Given the description of an element on the screen output the (x, y) to click on. 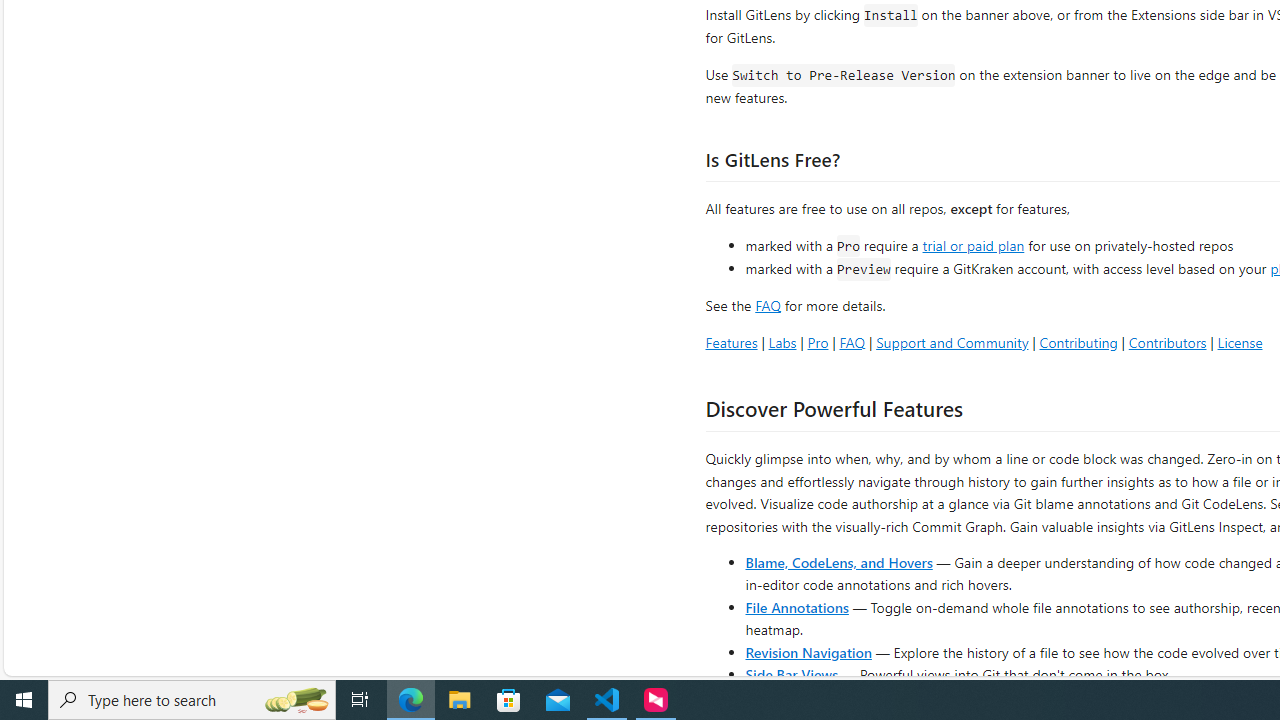
Contributors (1167, 341)
Contributing (1078, 341)
License (1240, 341)
Labs (782, 341)
Pro (817, 341)
Revision Navigation (807, 651)
Support and Community (952, 341)
Blame, CodeLens, and Hovers (838, 561)
trial or paid plan (973, 244)
File Annotations (796, 606)
FAQ (852, 341)
Features (731, 341)
Side Bar Views (791, 673)
